Given the description of an element on the screen output the (x, y) to click on. 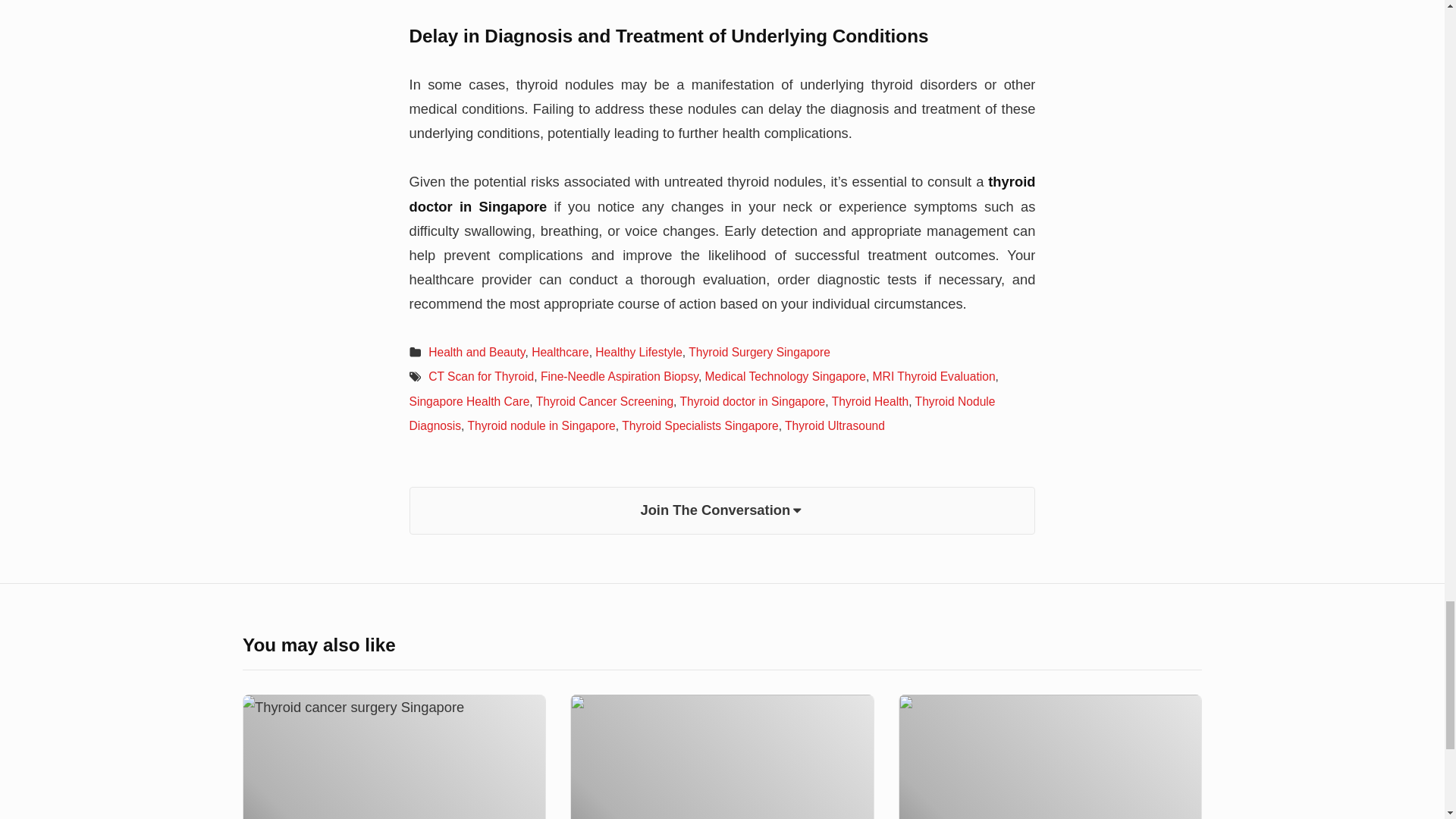
CT Scan for Thyroid (481, 376)
Thyroid nodule in Singapore (541, 425)
thyroid doctor in Singapore (722, 193)
Thyroid Ultrasound (834, 425)
Thyroid Surgery Singapore (758, 351)
Thyroid Specialists Singapore (699, 425)
Join The Conversation (722, 510)
Health and Beauty (476, 351)
Thyroid doctor in Singapore (752, 400)
Healthy Lifestyle (638, 351)
